Given the description of an element on the screen output the (x, y) to click on. 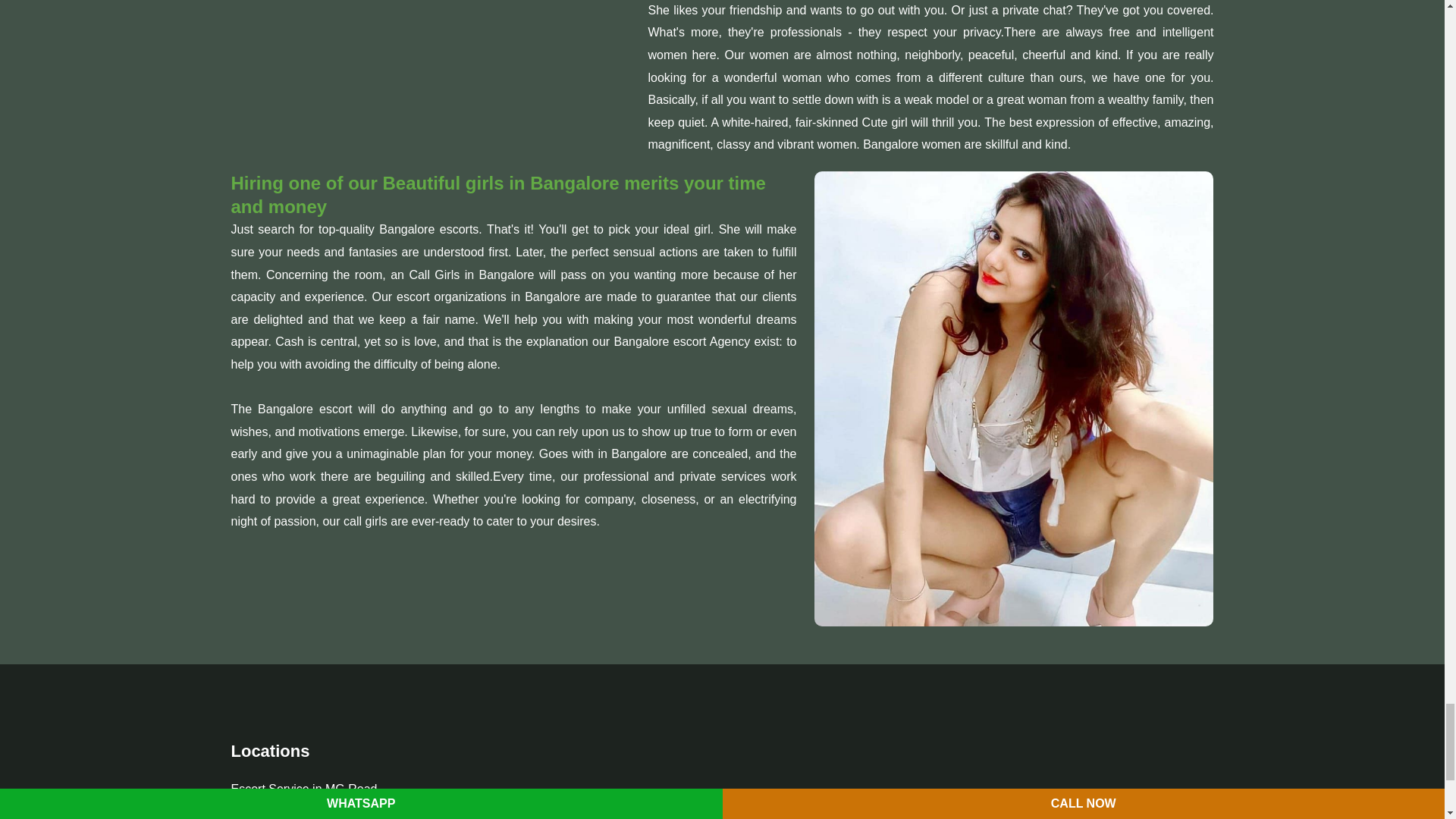
Escort Service in MG Road (303, 789)
Escort Service in KR Puram (305, 813)
